Given the description of an element on the screen output the (x, y) to click on. 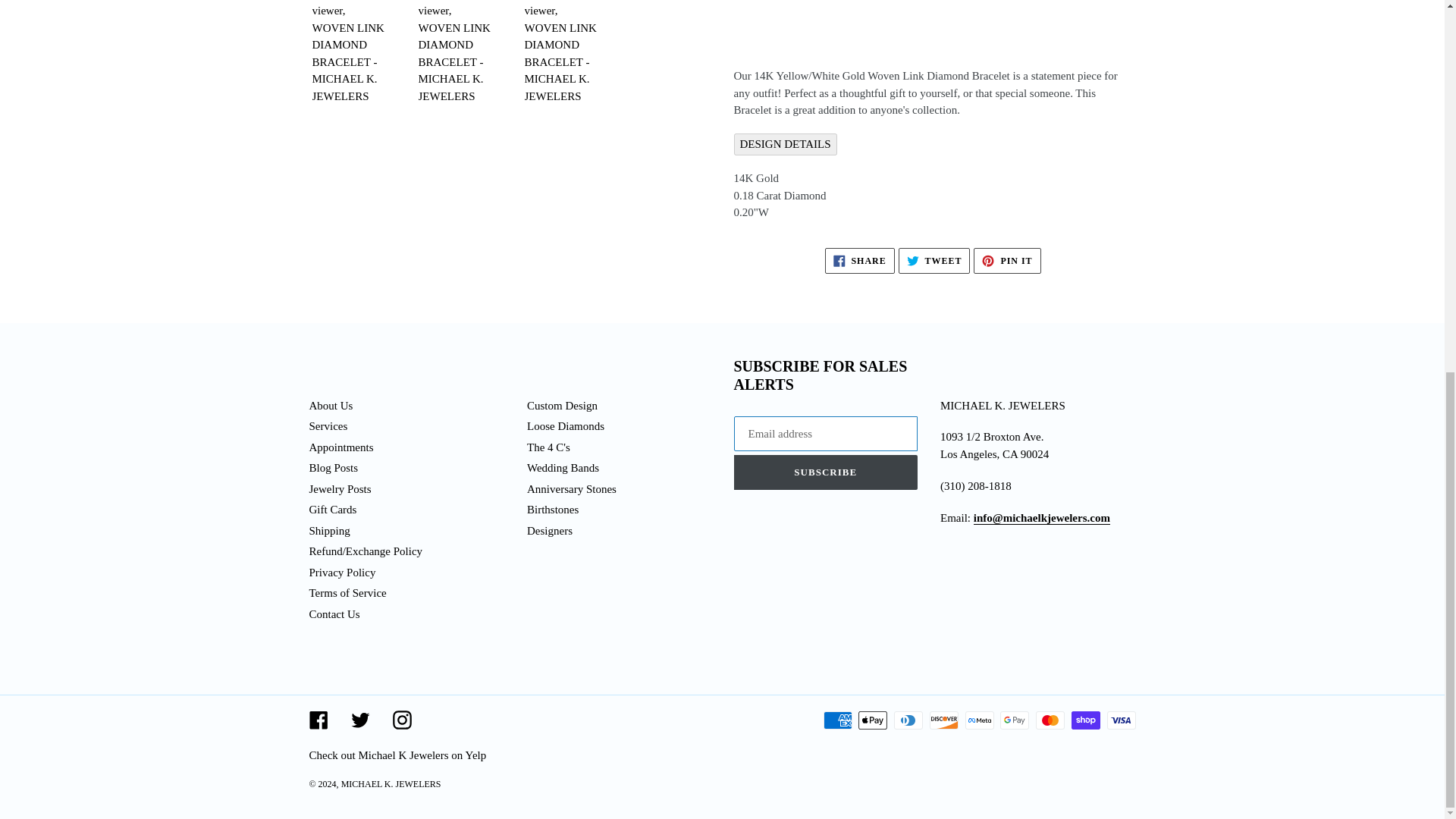
CONTACT US (1041, 517)
